Given the description of an element on the screen output the (x, y) to click on. 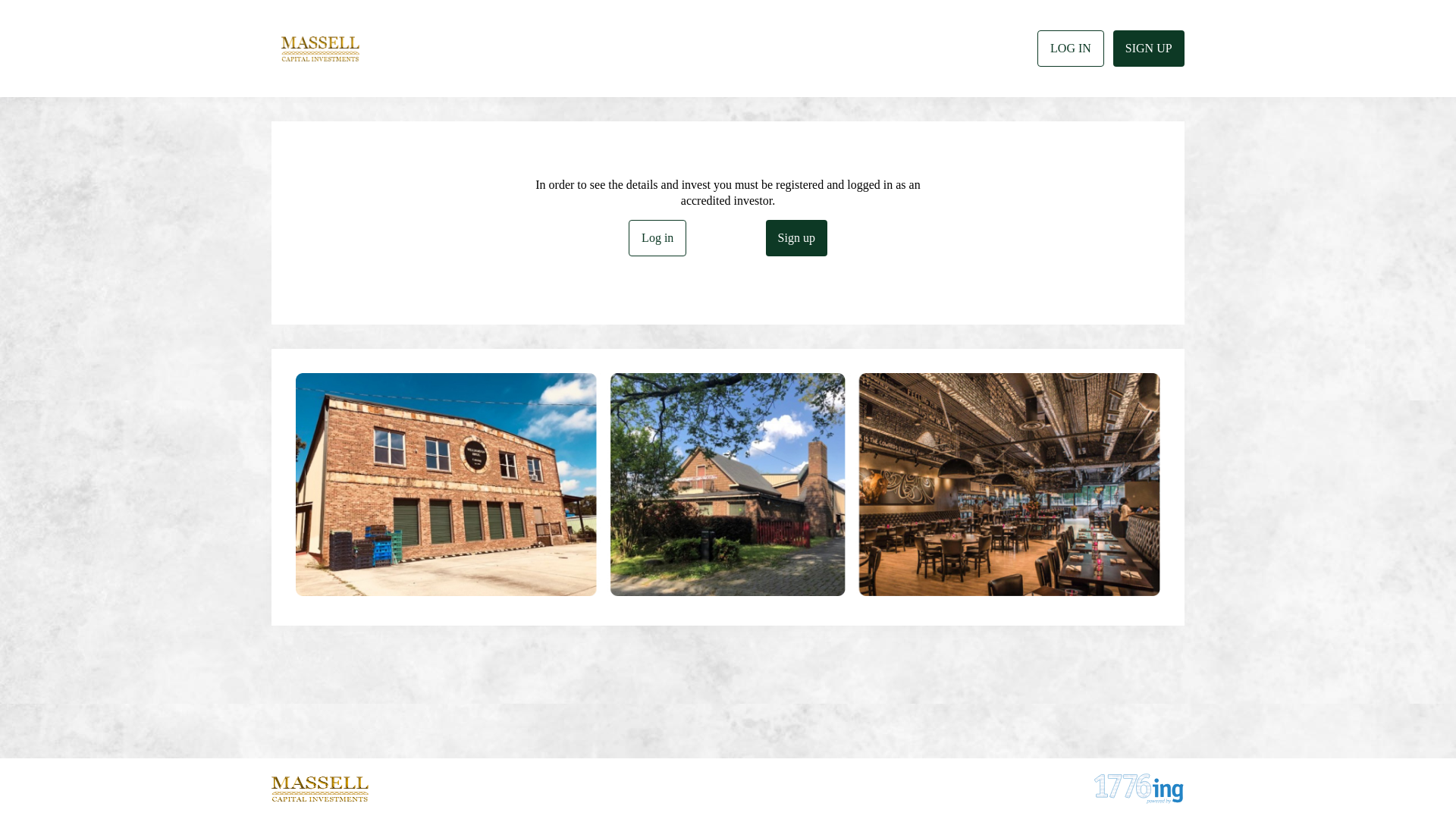
Log in Element type: text (657, 237)
SIGN UP Element type: text (1148, 48)
Sign up Element type: text (796, 237)
LOG IN Element type: text (1070, 48)
Logo Element type: hover (319, 788)
Logo Element type: hover (319, 48)
